Given the description of an element on the screen output the (x, y) to click on. 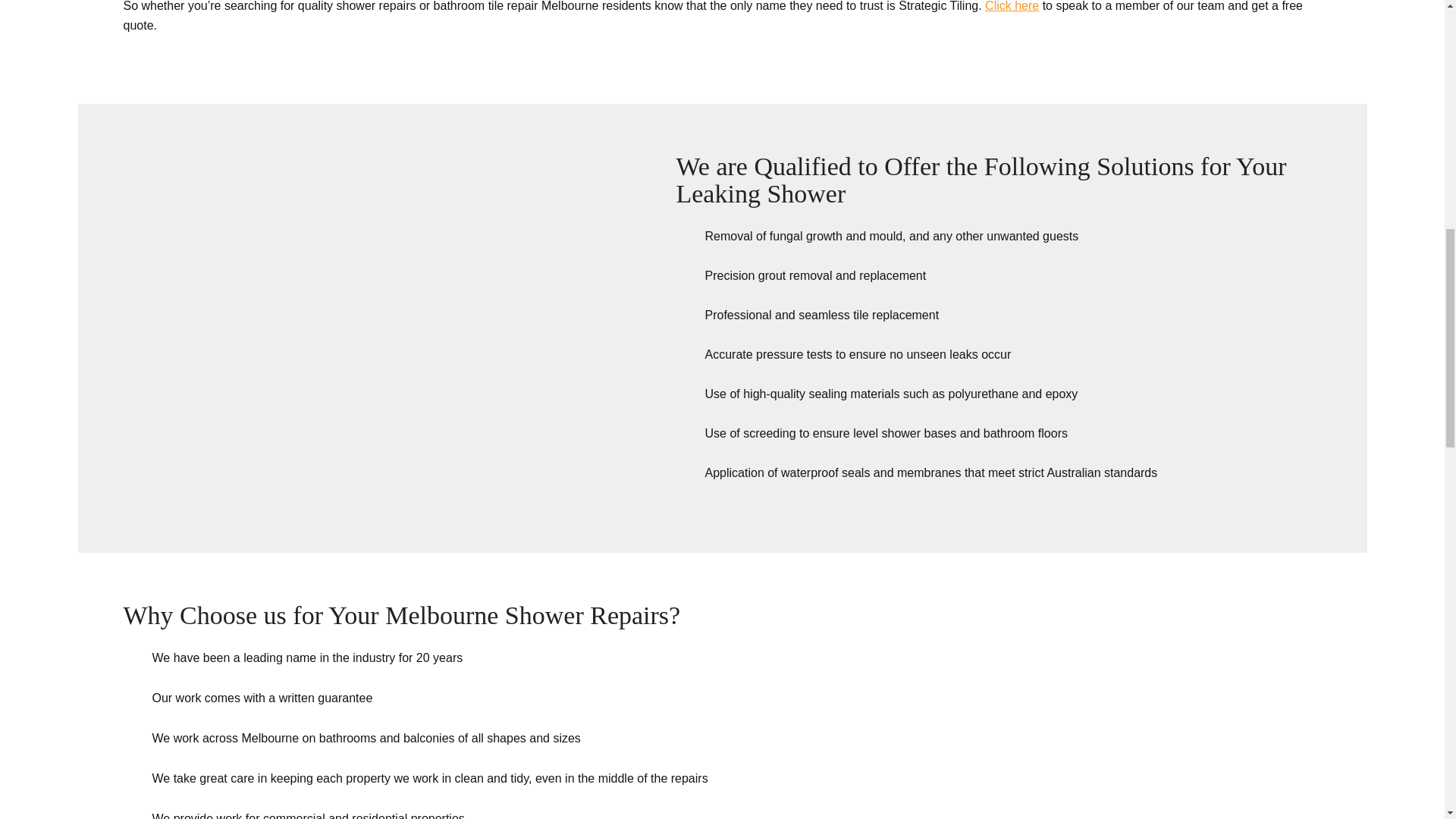
Click here (1012, 7)
